Given the description of an element on the screen output the (x, y) to click on. 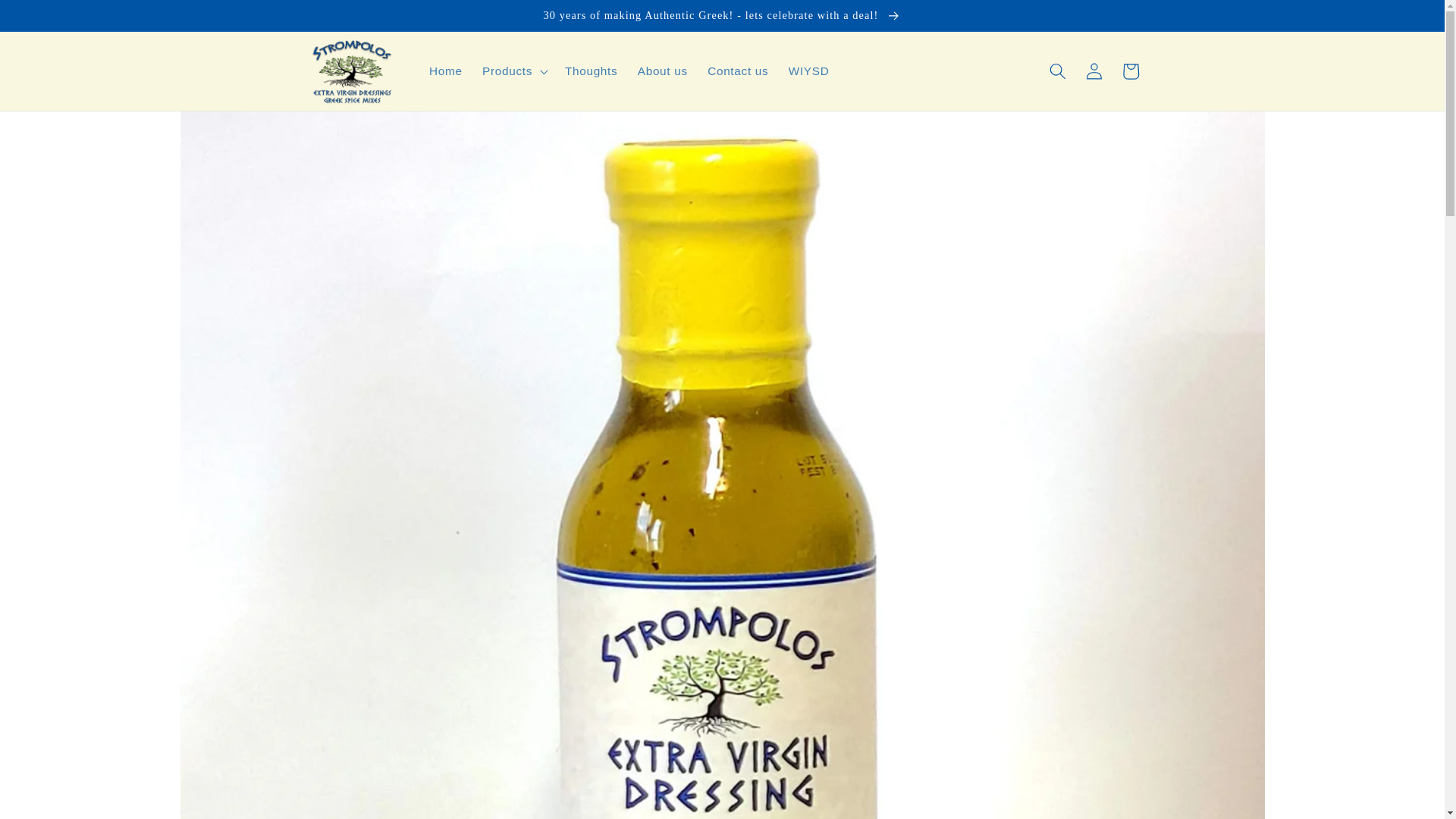
Contact us (737, 71)
Log in (1093, 71)
WIYSD (809, 71)
Home (445, 71)
Thoughts (590, 71)
Cart (1130, 71)
Skip to content (50, 20)
About us (662, 71)
